Given the description of an element on the screen output the (x, y) to click on. 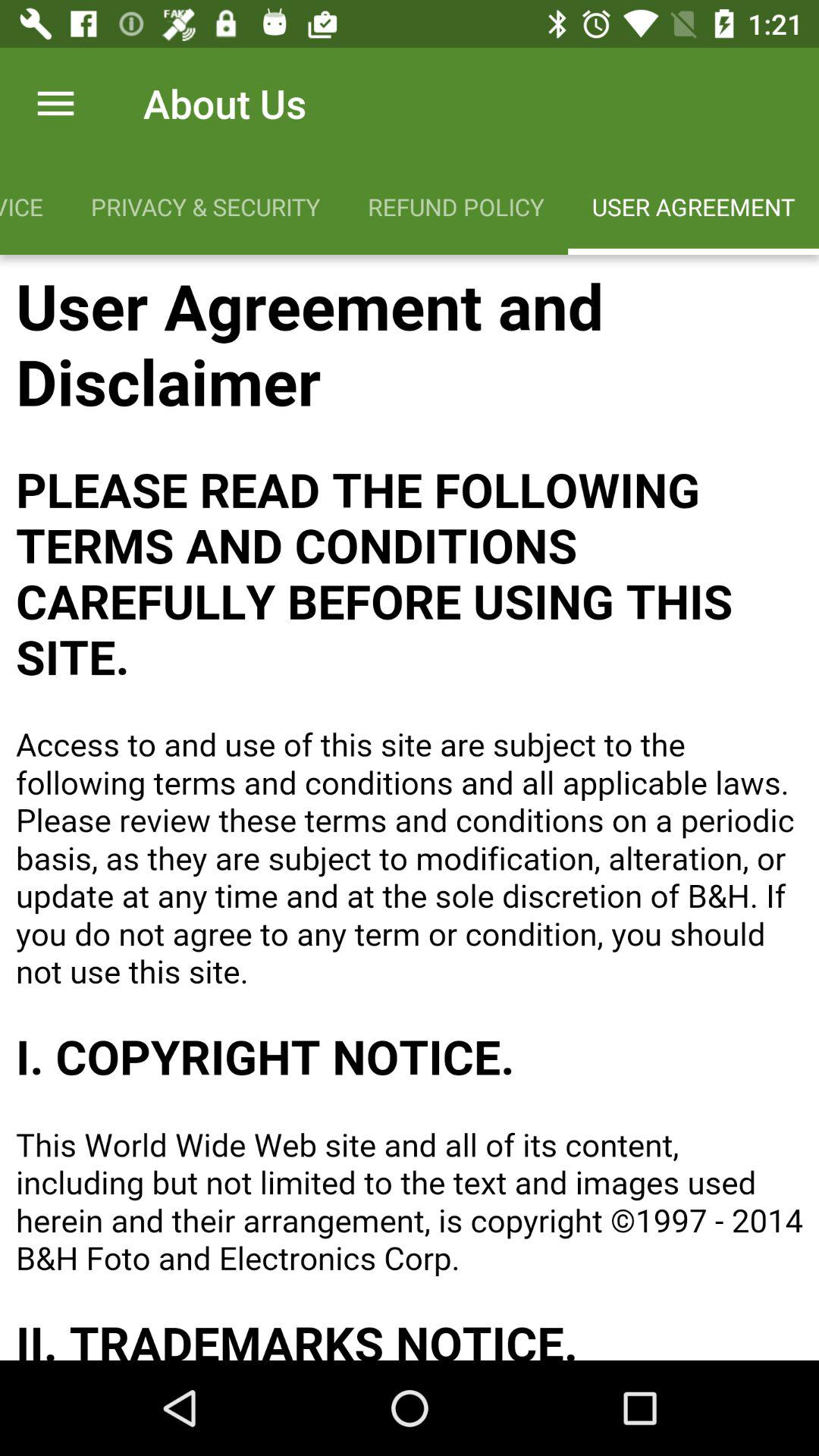
make advertisement (409, 807)
